Given the description of an element on the screen output the (x, y) to click on. 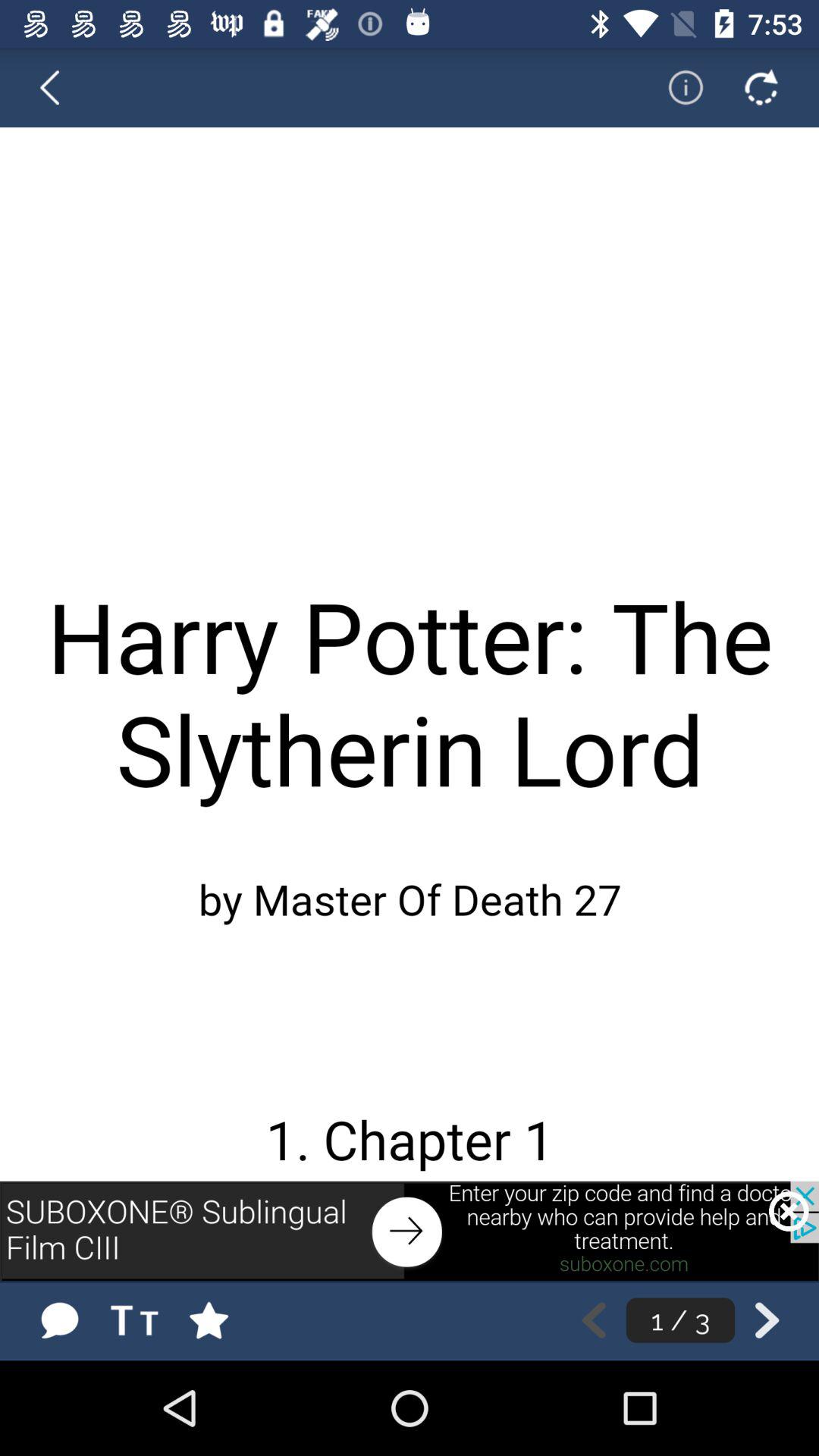
ratting (224, 1320)
